Given the description of an element on the screen output the (x, y) to click on. 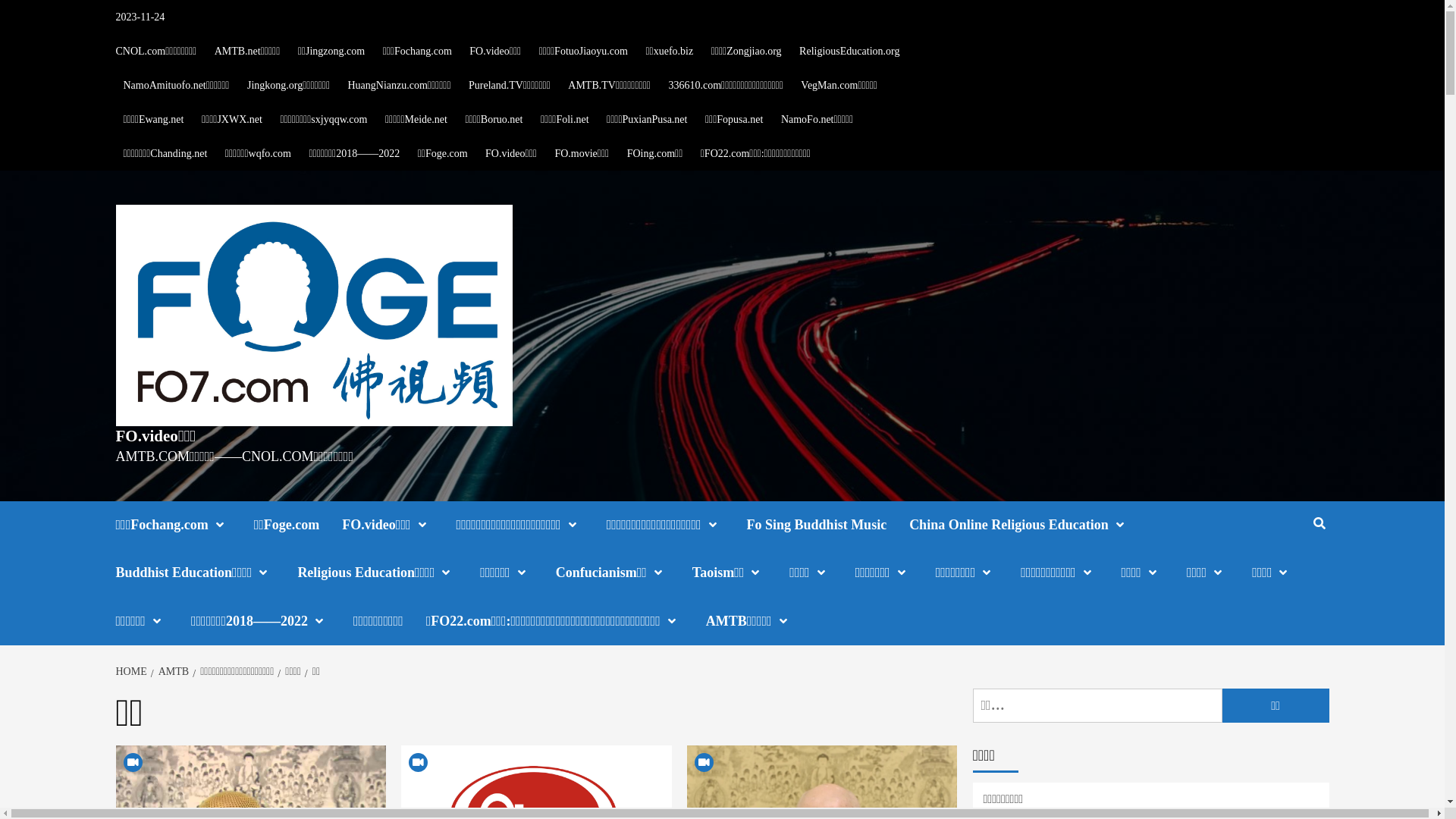
HOME Element type: text (132, 671)
Search Element type: hover (1319, 523)
China Online Religious Education Element type: text (1031, 525)
ReligiousEducation.org Element type: text (848, 51)
Fo Sing Buddhist Music Element type: text (828, 525)
AMTB Element type: text (171, 671)
